Given the description of an element on the screen output the (x, y) to click on. 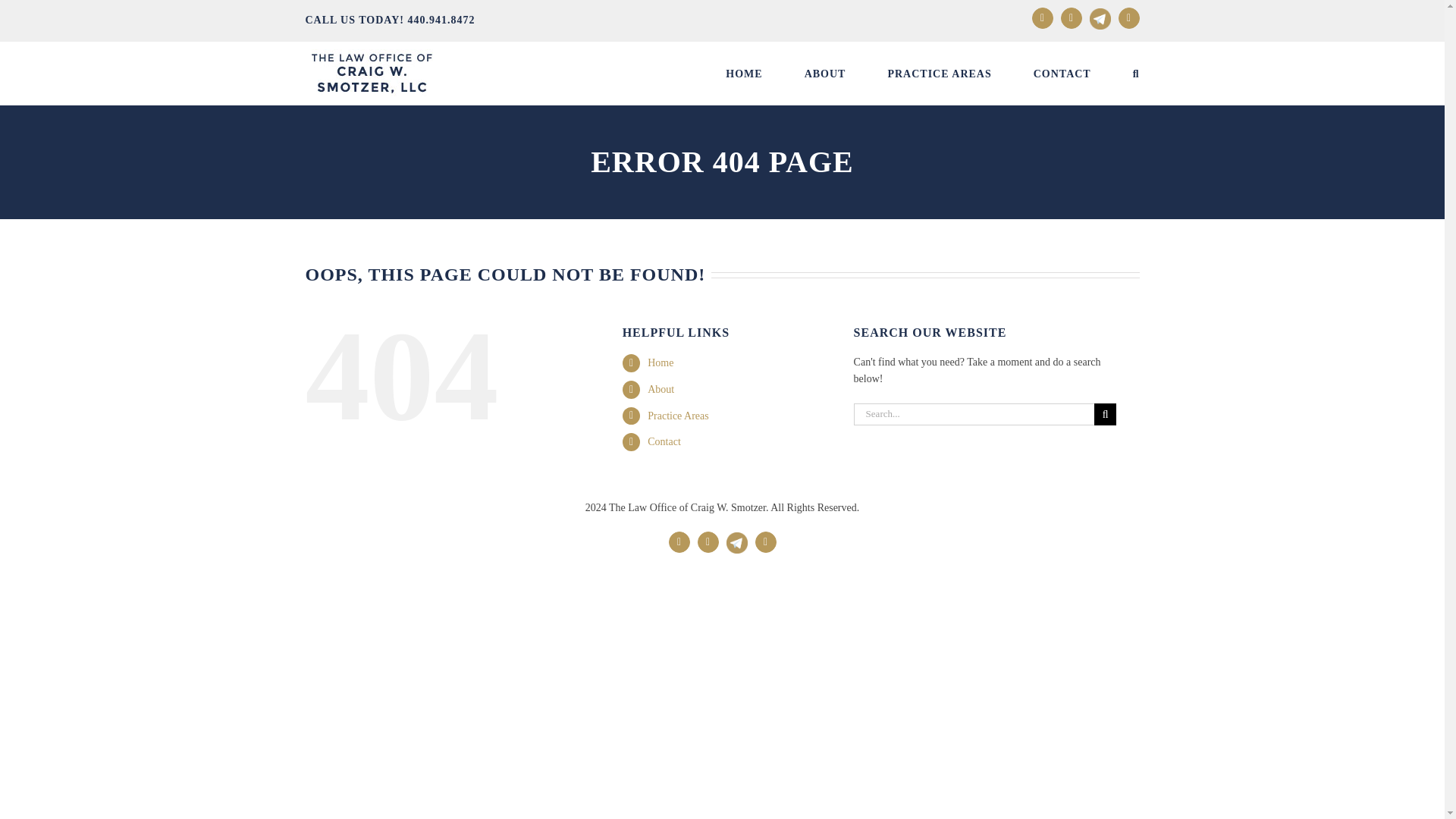
linkedin (1071, 17)
PRACTICE AREAS (938, 73)
Telegram (737, 534)
Contact (664, 441)
Telegram (737, 534)
linkedin (1071, 17)
Home (659, 362)
tumblr (765, 541)
Practice Areas (677, 415)
facebook (1042, 17)
